Given the description of an element on the screen output the (x, y) to click on. 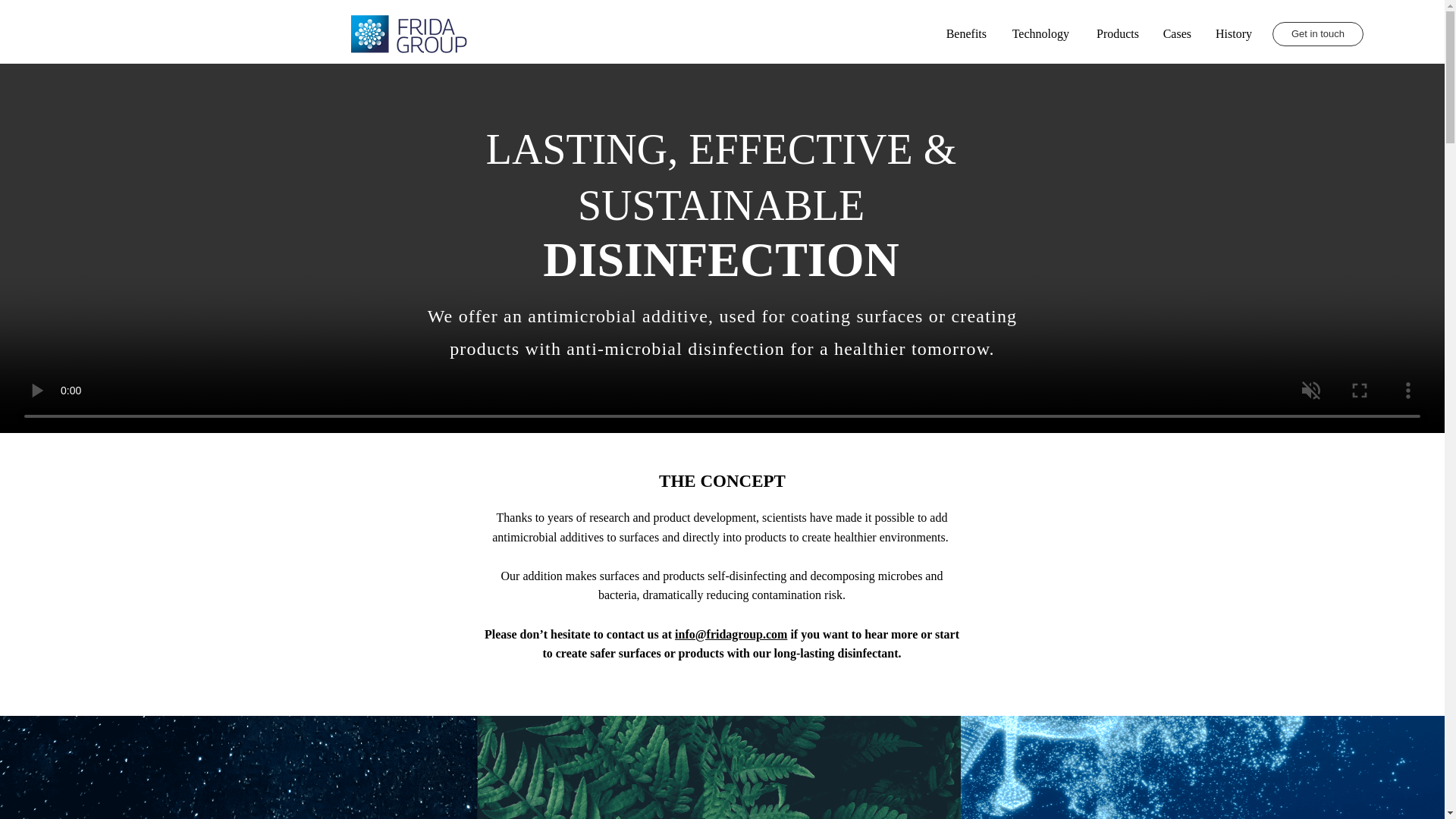
Get in touch (1317, 33)
Cases (1176, 34)
Technology (1038, 34)
Products (1115, 34)
History (1232, 34)
Benefits (965, 34)
